Given the description of an element on the screen output the (x, y) to click on. 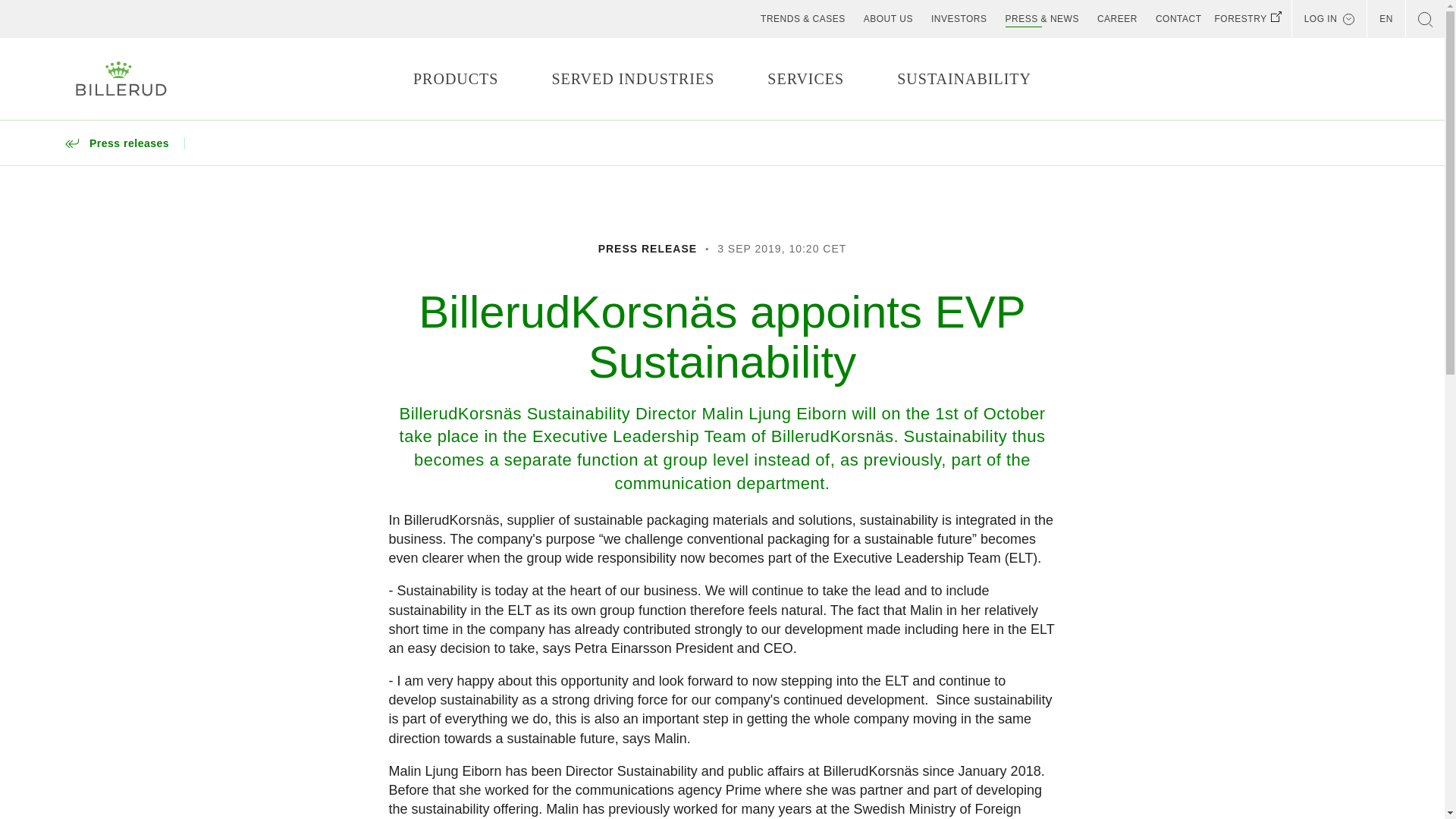
ABOUT US (887, 18)
Go to home link (121, 78)
